Given the description of an element on the screen output the (x, y) to click on. 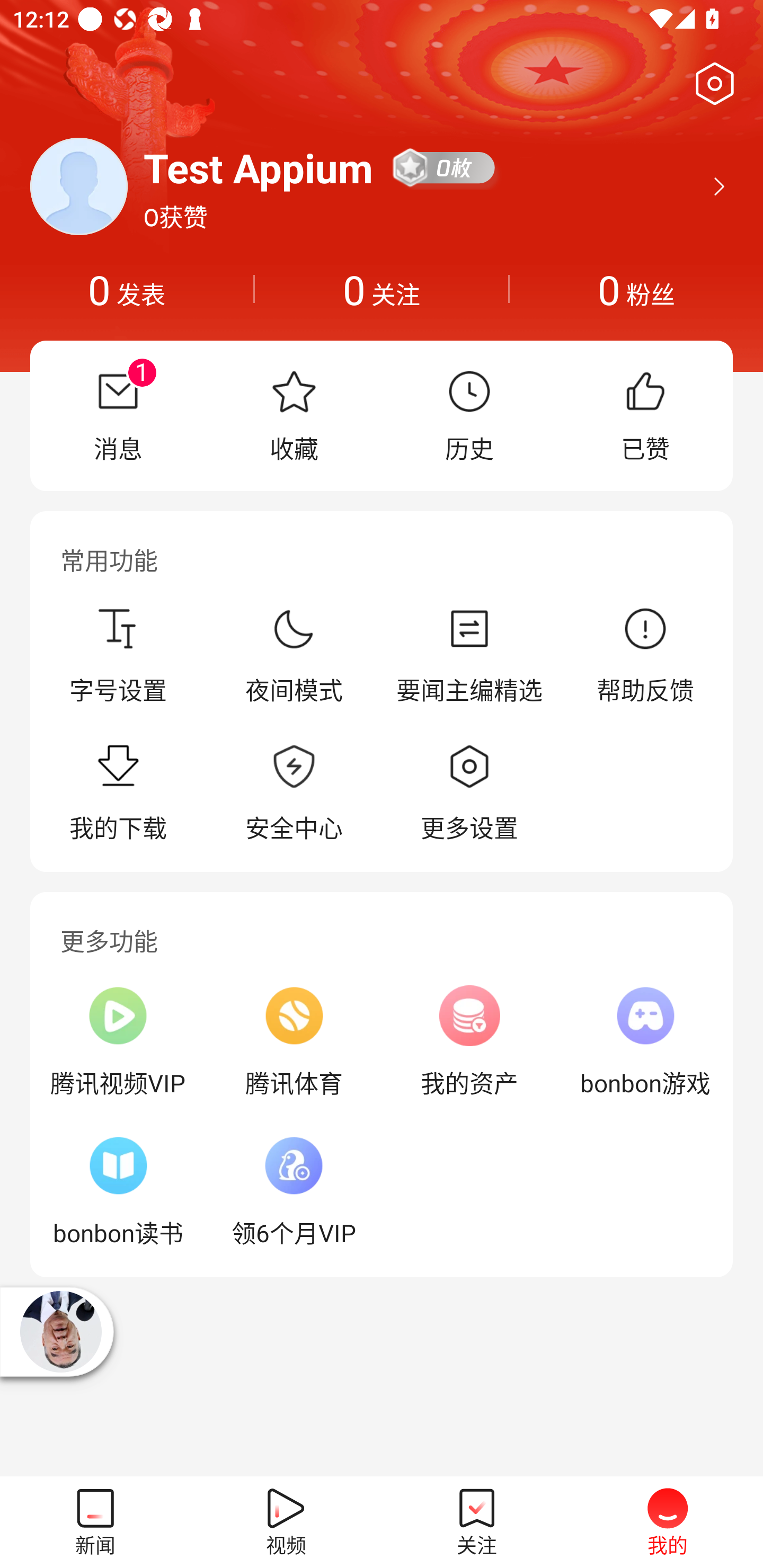
设置，可点击 (711, 83)
头像，可点击 (78, 186)
用户：Test Appium，可点击 (258, 167)
0枚勋章，可点击 (444, 167)
0发表，可点击 (126, 288)
0关注，可点击 (381, 288)
0粉丝，可点击 (636, 288)
消息，可点击 (118, 415)
收藏，可点击 (293, 415)
历史，可点击 (469, 415)
已赞，可点击 (644, 415)
字号设置，可点击 (118, 655)
夜间模式，可点击 (293, 655)
要闻主编精选，可点击 (469, 655)
帮助反馈，可点击 (644, 655)
我的下载，可点击 (118, 793)
安全中心，可点击 (293, 793)
更多设置，可点击 (469, 793)
腾讯视频VIP，可点击 (118, 1041)
腾讯体育，可点击 (293, 1041)
我的资产，可点击 (469, 1041)
bonbon游戏，可点击 (644, 1041)
bonbon读书，可点击 (118, 1191)
领6个月VIP，可点击 (293, 1191)
播放器 (60, 1330)
